Given the description of an element on the screen output the (x, y) to click on. 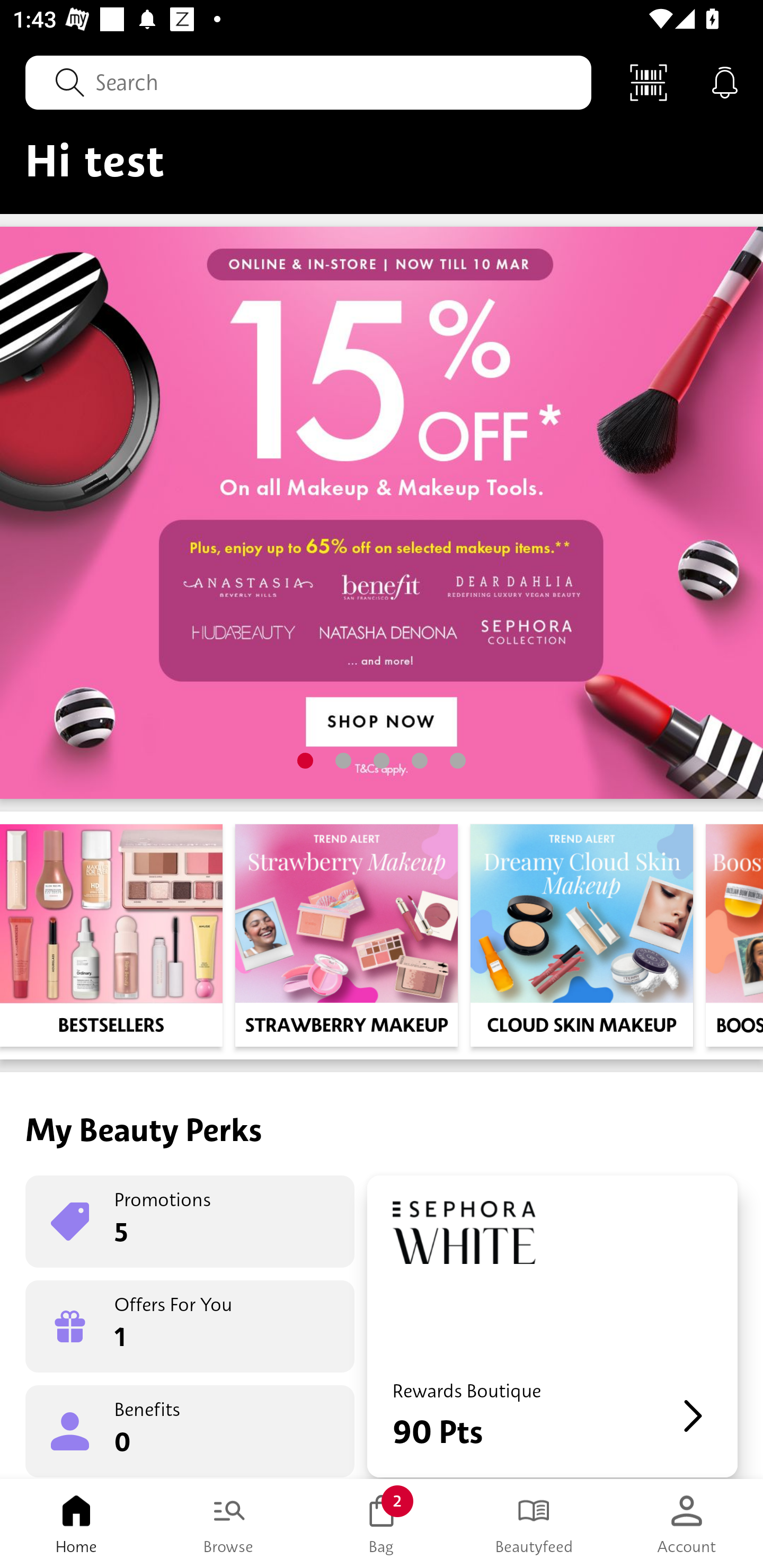
Scan Code (648, 81)
Notifications (724, 81)
Search (308, 81)
Promotions 5 (189, 1221)
Rewards Boutique 90 Pts (552, 1326)
Offers For You 1 (189, 1326)
Benefits 0 (189, 1430)
Browse (228, 1523)
Bag 2 Bag (381, 1523)
Beautyfeed (533, 1523)
Account (686, 1523)
